Given the description of an element on the screen output the (x, y) to click on. 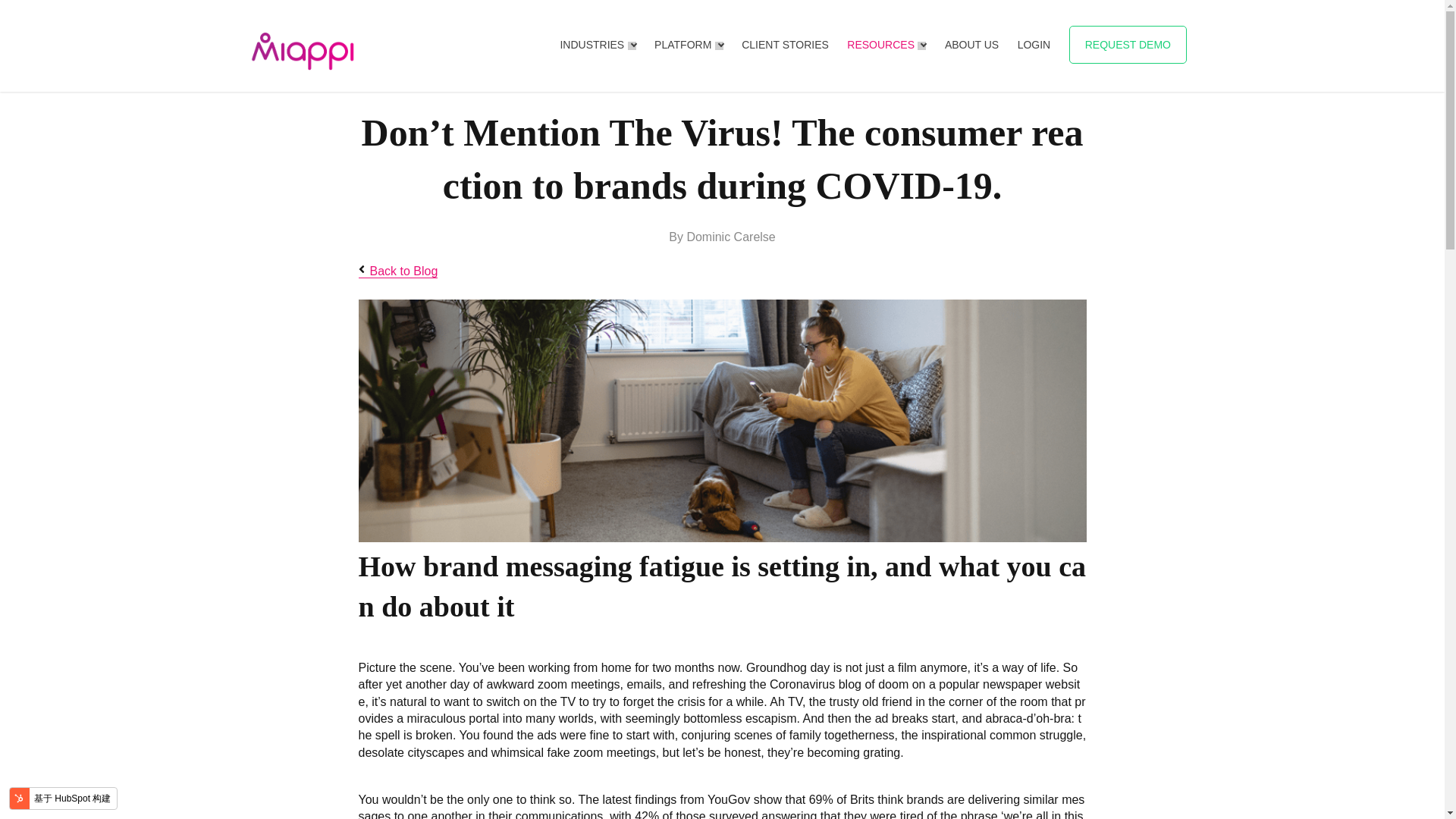
REQUEST DEMO (1127, 44)
PLATFORM (682, 44)
RESOURCES (880, 44)
Miappi (302, 50)
CLIENT STORIES (784, 44)
LOGIN (1034, 44)
INDUSTRIES (591, 44)
ABOUT US (971, 44)
Show submenu for INDUSTRIES (631, 45)
Show submenu for RESOURCES (921, 45)
